Given the description of an element on the screen output the (x, y) to click on. 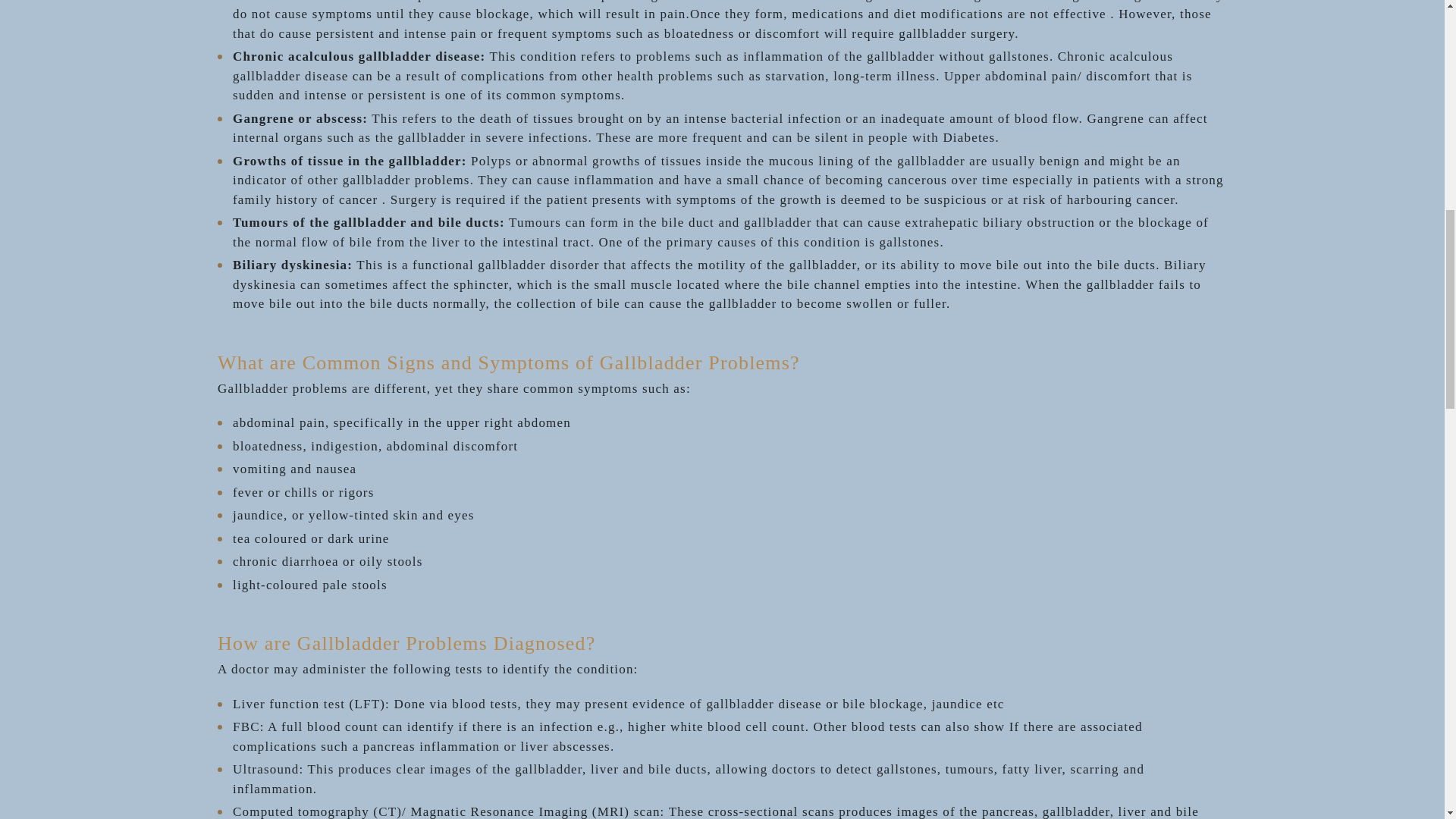
Gallstones: (268, 1)
gallbladder surgery (956, 33)
jaundice, or yellow-tinted skin and eyes (353, 514)
